Given the description of an element on the screen output the (x, y) to click on. 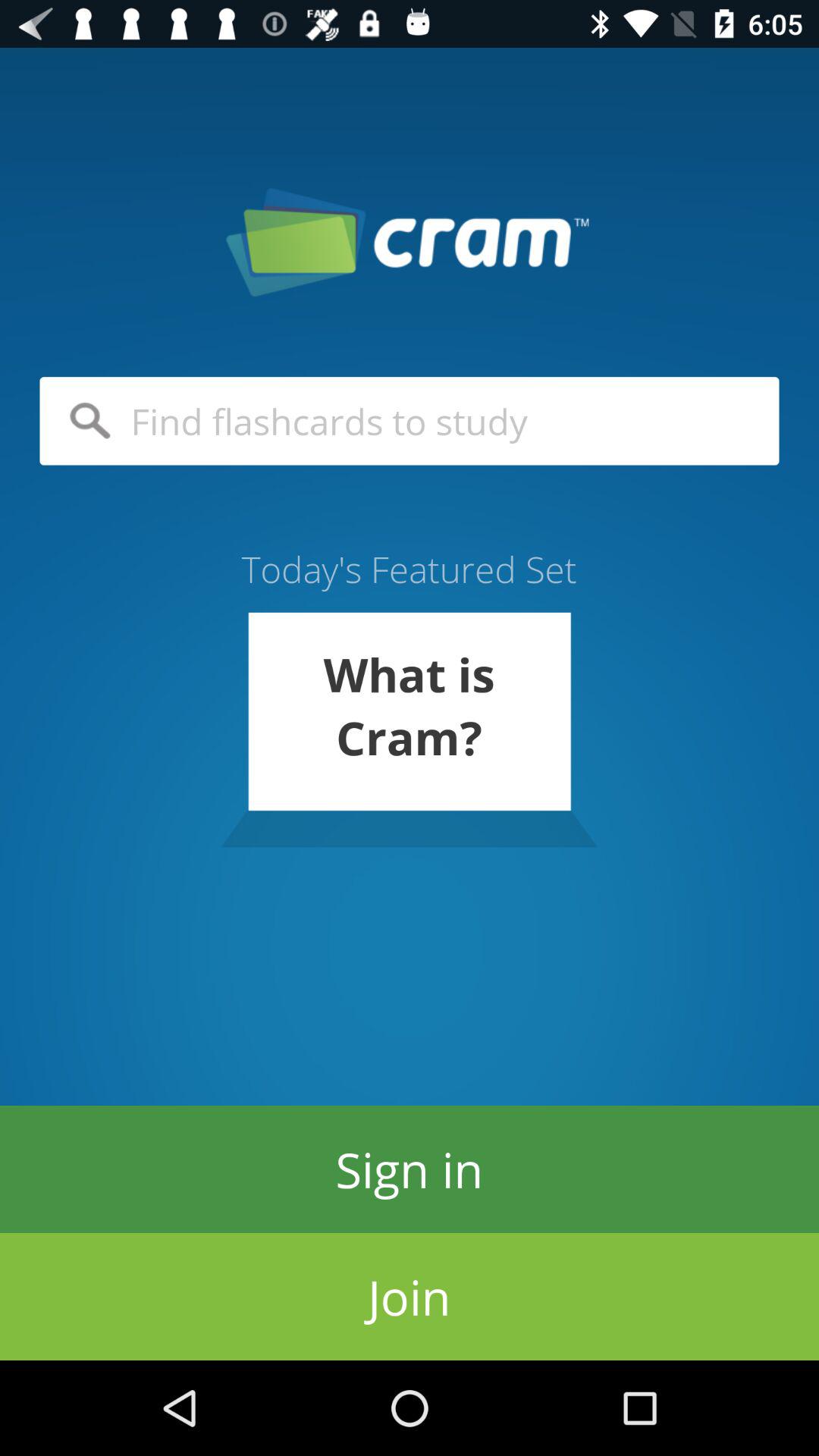
swipe until the what is
cram? (408, 729)
